Given the description of an element on the screen output the (x, y) to click on. 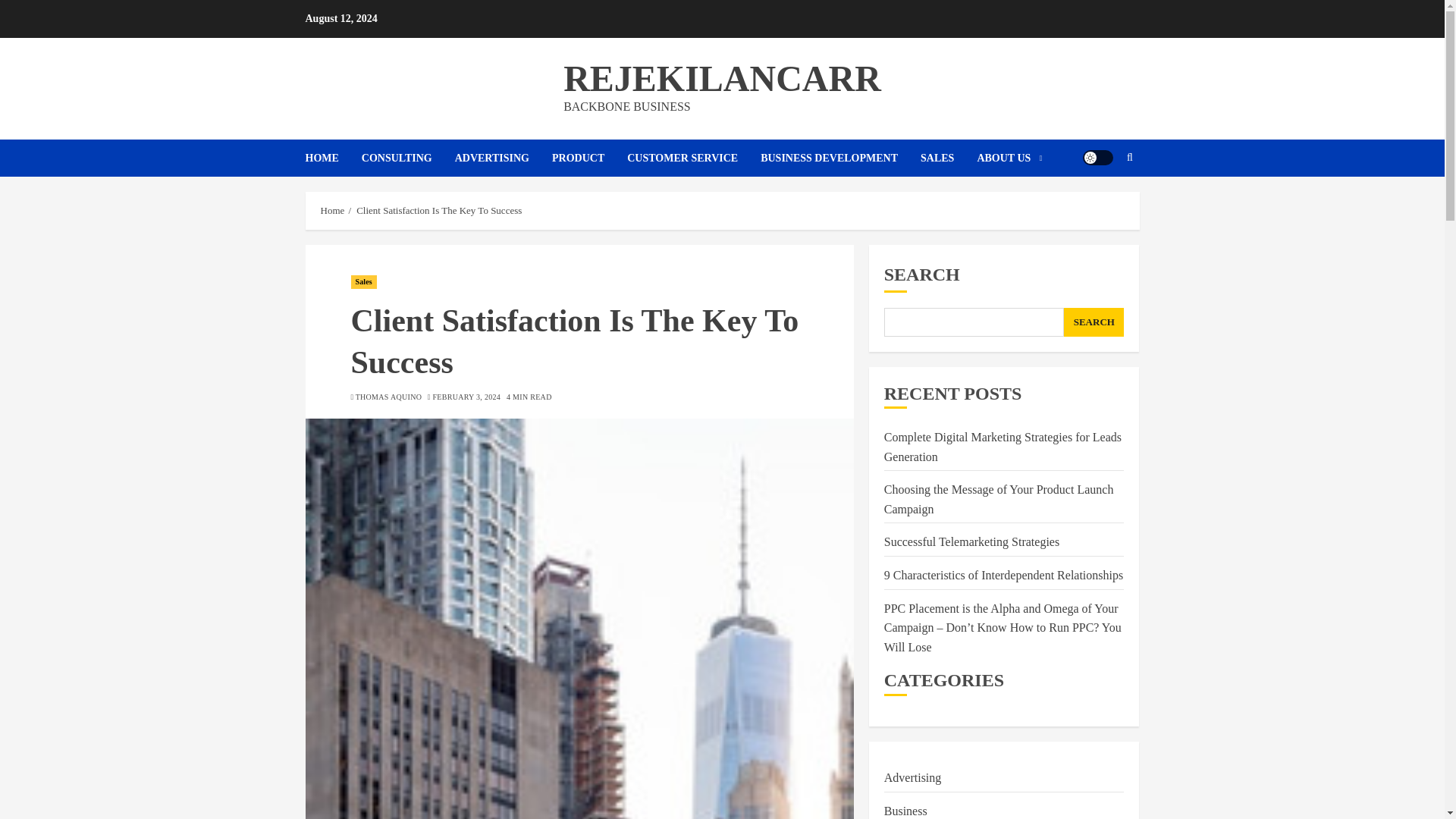
Client Satisfaction Is The Key To Success (438, 210)
CUSTOMER SERVICE (693, 157)
REJEKILANCARR (721, 78)
Advertising (912, 777)
Successful Telemarketing Strategies (971, 541)
ADVERTISING (502, 157)
HOME (332, 157)
PRODUCT (589, 157)
Home (331, 210)
Search (1099, 203)
